Given the description of an element on the screen output the (x, y) to click on. 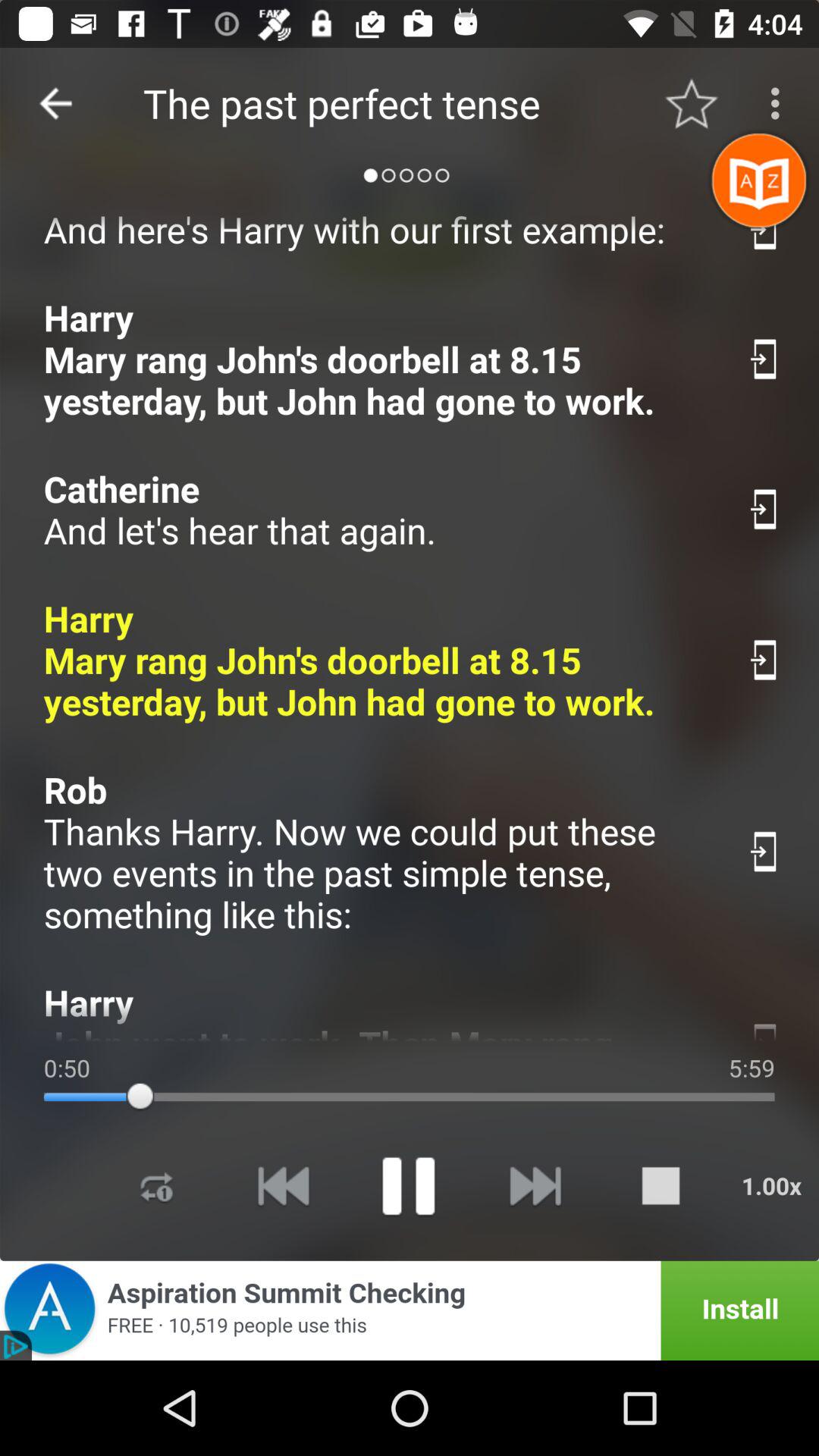
to stop the currently playing song (660, 1185)
